Given the description of an element on the screen output the (x, y) to click on. 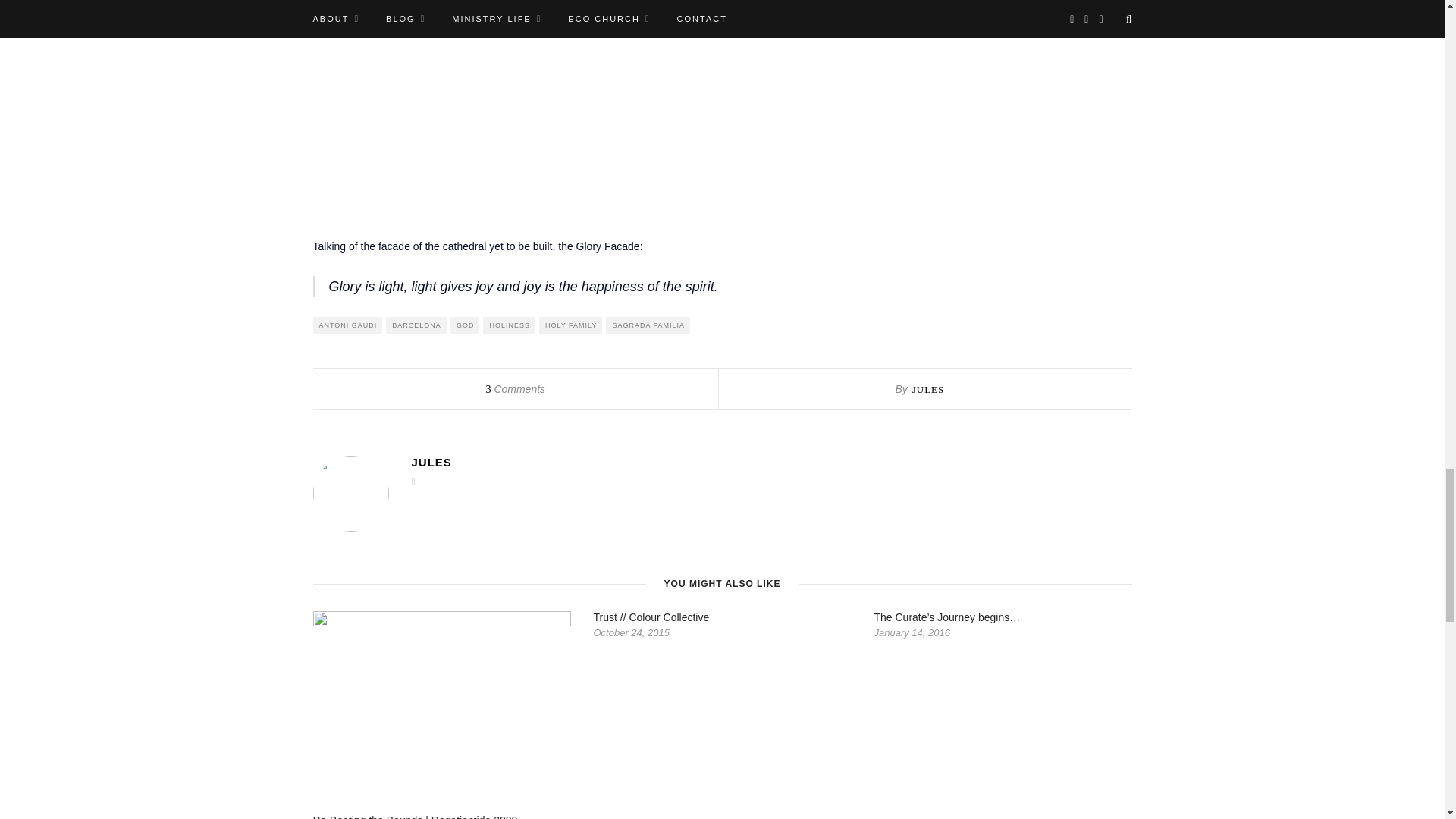
BARCELONA (415, 325)
Posts by Jules (928, 389)
HOLINESS (509, 325)
Posts by Jules (770, 461)
JULES (928, 389)
JULES (770, 461)
GOD (464, 325)
3 Comments (514, 388)
HOLY FAMILY (570, 325)
SAGRADA FAMILIA (647, 325)
